Given the description of an element on the screen output the (x, y) to click on. 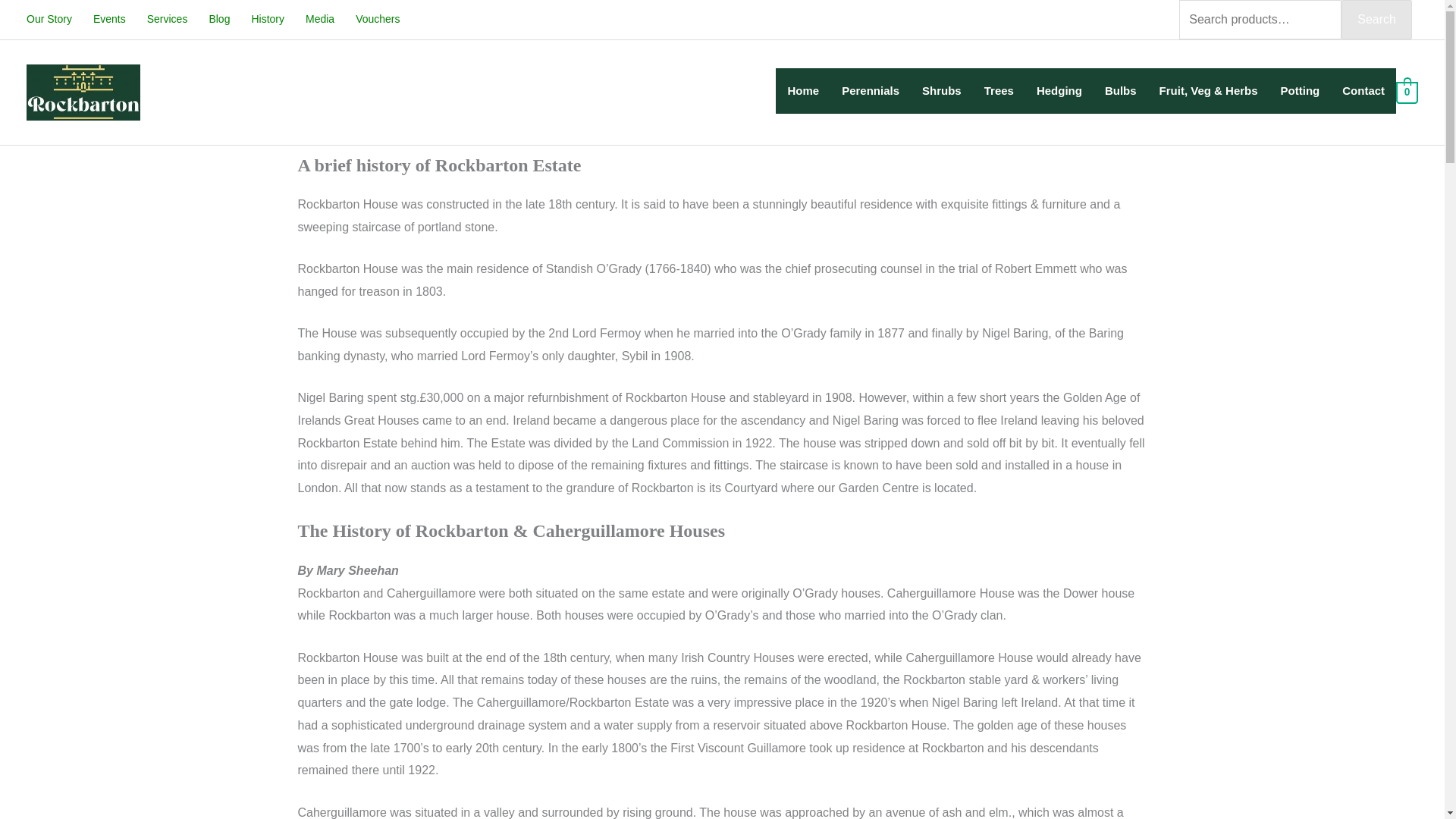
Search (1376, 19)
Hedging (1059, 90)
Potting (1300, 90)
Services (167, 19)
Bulbs (1120, 90)
Shrubs (941, 90)
0 (1407, 91)
Trees (998, 90)
Media (320, 19)
Home (802, 90)
Events (109, 19)
Blog (219, 19)
Vouchers (377, 19)
Contact (1363, 90)
Perennials (870, 90)
